Given the description of an element on the screen output the (x, y) to click on. 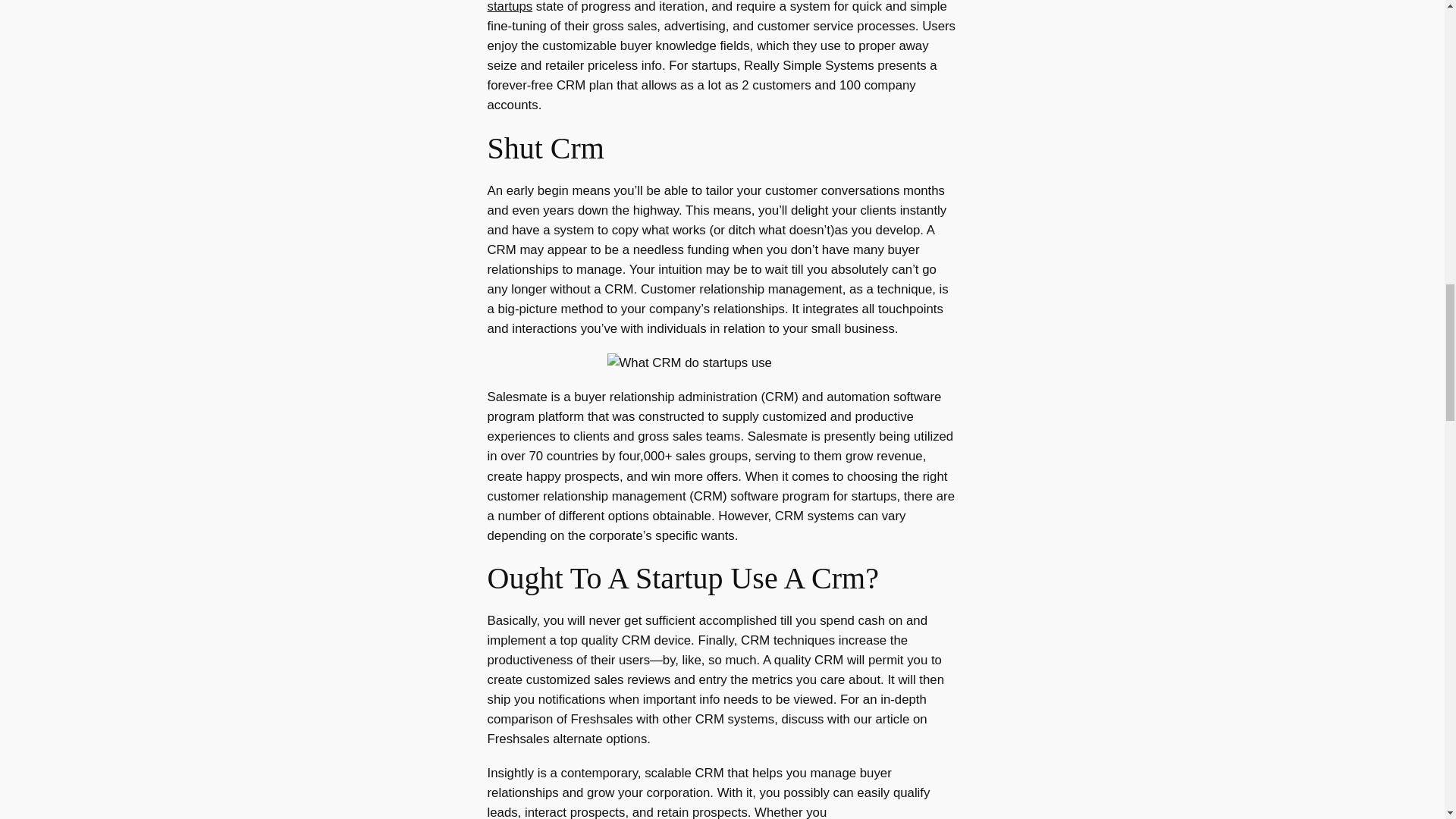
cheap crm for startups (706, 6)
